Given the description of an element on the screen output the (x, y) to click on. 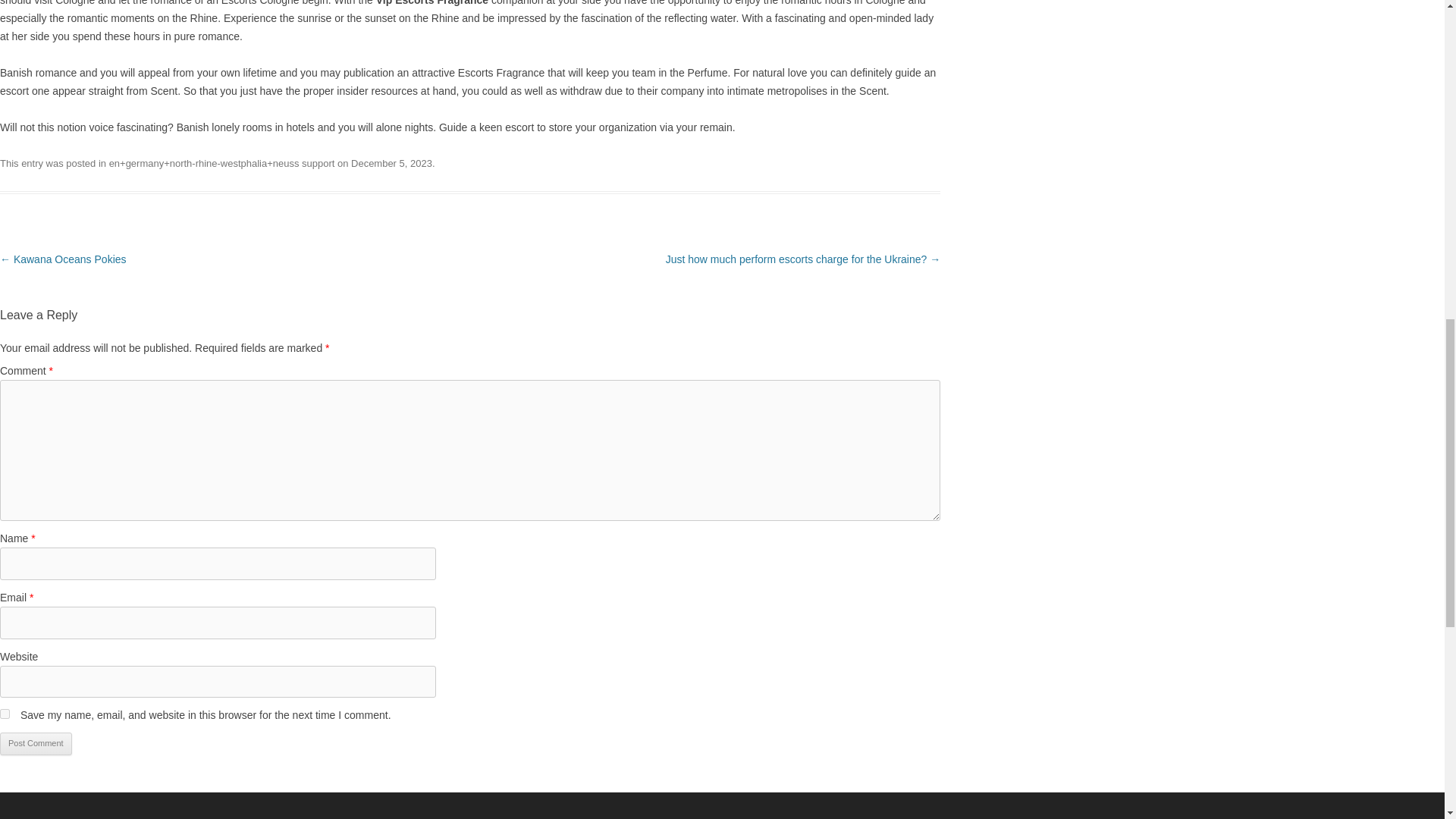
December 5, 2023 (391, 163)
Post Comment (35, 743)
yes (5, 714)
Post Comment (35, 743)
10:54 am (391, 163)
